Given the description of an element on the screen output the (x, y) to click on. 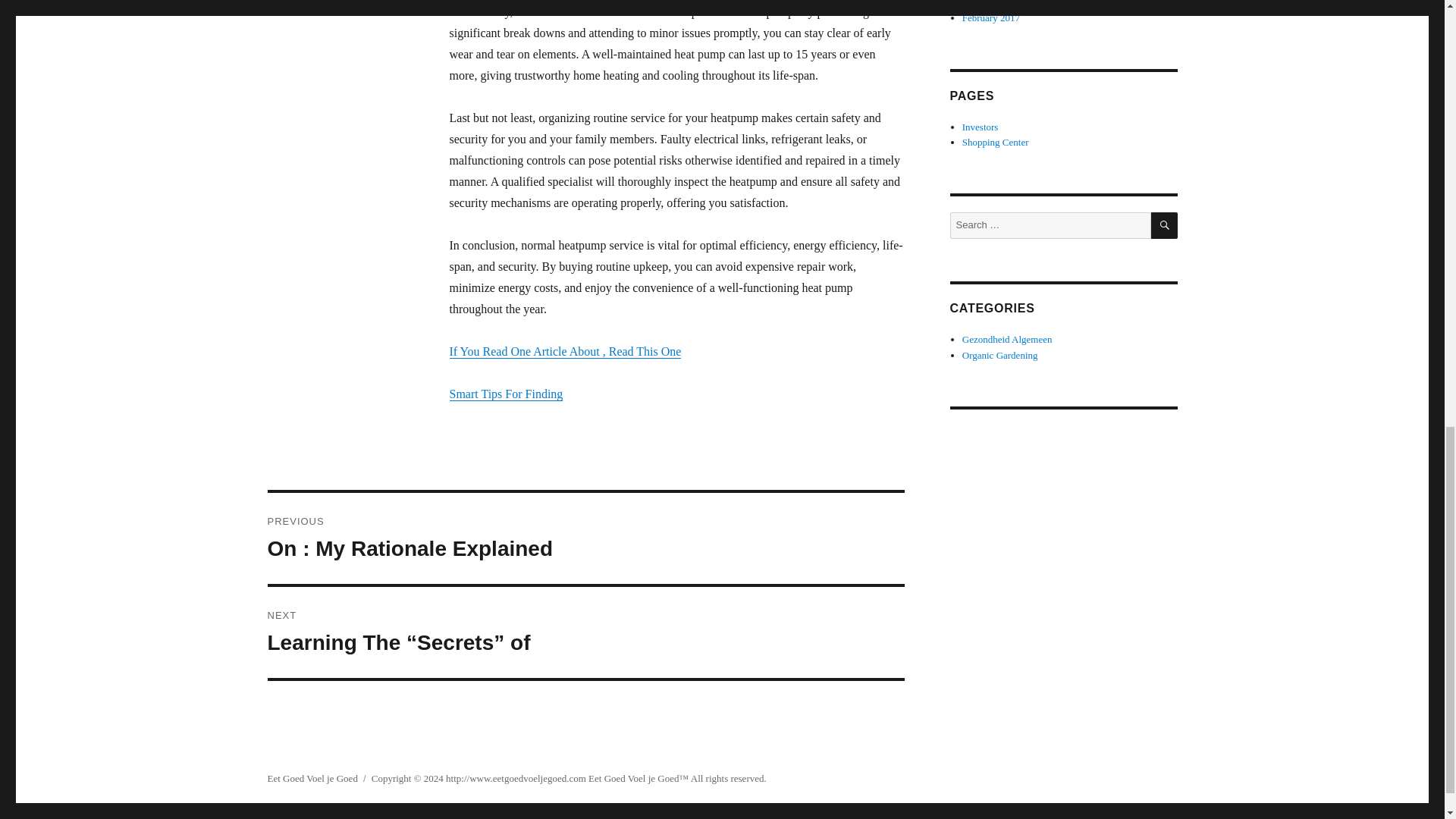
Smart Tips For Finding (505, 393)
Eet Goed Voel je Goed (633, 778)
March 2017 (986, 3)
Organic Gardening (1000, 355)
If You Read One Article About , Read This One (564, 350)
February 2017 (991, 17)
SEARCH (585, 538)
Gezondheid Algemeen (1164, 225)
Eet Goed Voel je Goed (1007, 338)
Shopping Center (311, 778)
Investors (995, 142)
